Given the description of an element on the screen output the (x, y) to click on. 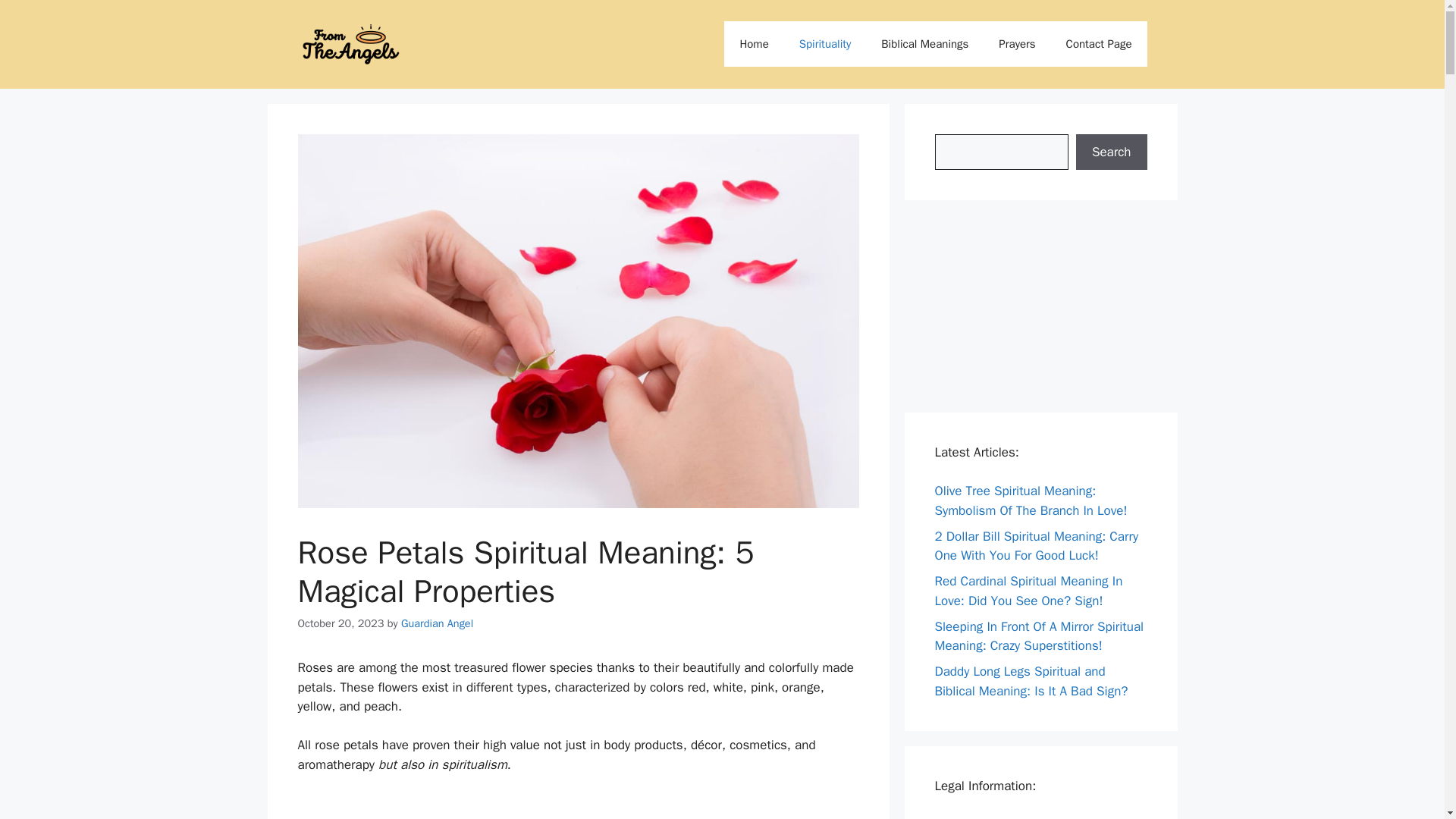
From The Angels (350, 44)
View all posts by Guardian Angel (437, 622)
Search (1111, 152)
Home (753, 43)
Prayers (1016, 43)
Contact Page (1099, 43)
Contact Page (971, 817)
From The Angels (350, 43)
Biblical Meanings (925, 43)
Guardian Angel (437, 622)
